Given the description of an element on the screen output the (x, y) to click on. 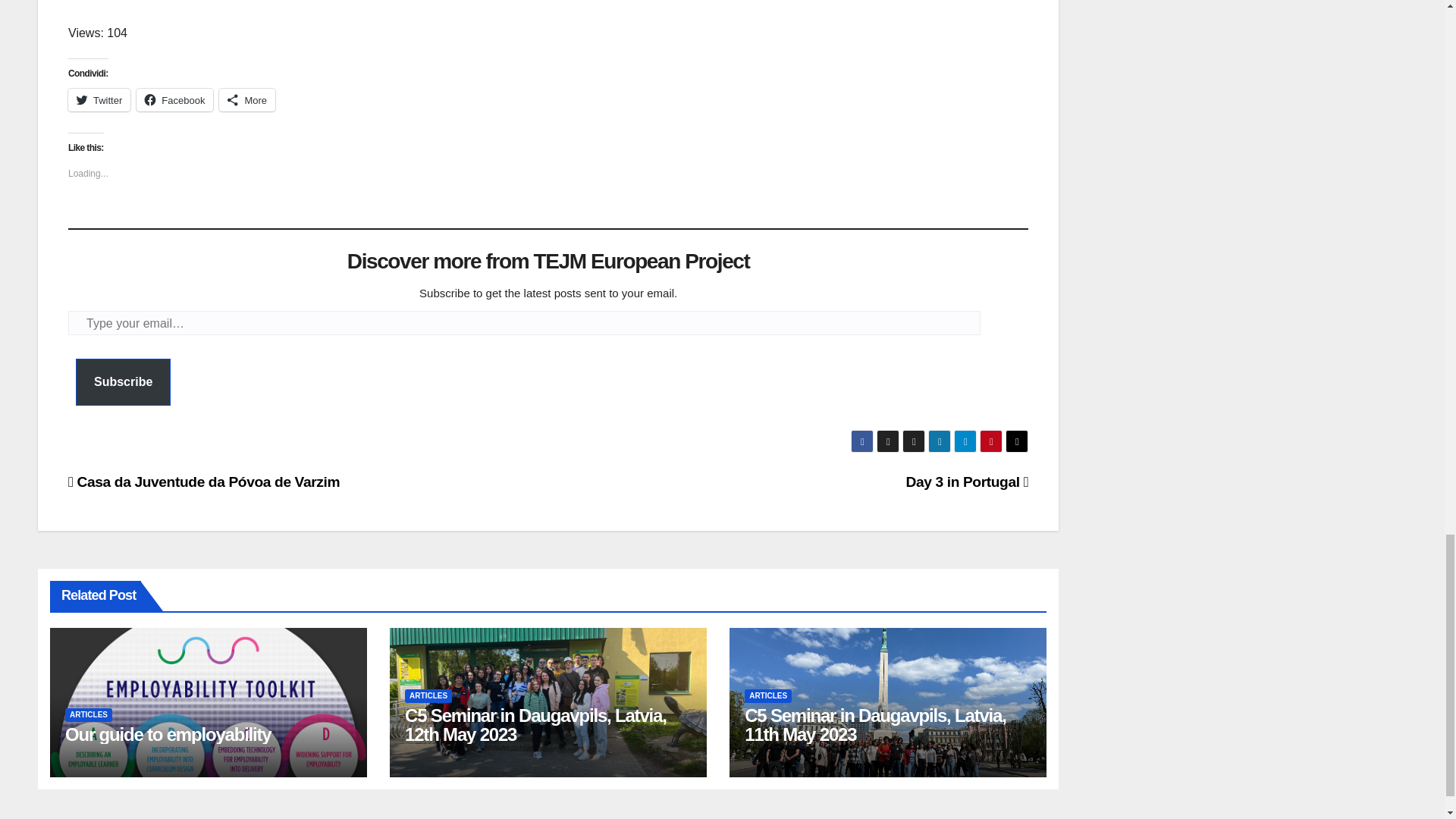
Facebook (174, 99)
Click to share on Twitter (99, 99)
Twitter (99, 99)
Subscribe (122, 381)
Click to share on Facebook (174, 99)
More (247, 99)
